Given the description of an element on the screen output the (x, y) to click on. 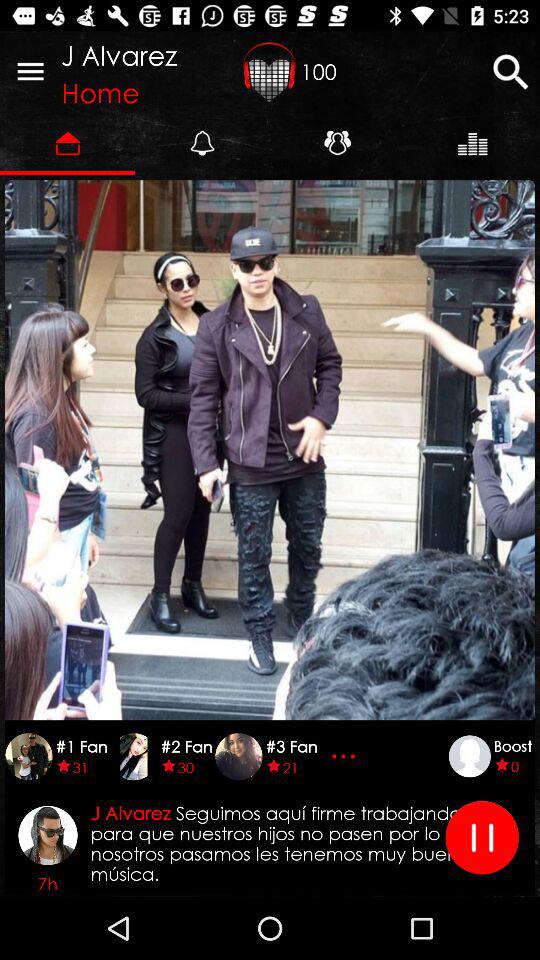
choose icon next to the 100 item (269, 71)
